Given the description of an element on the screen output the (x, y) to click on. 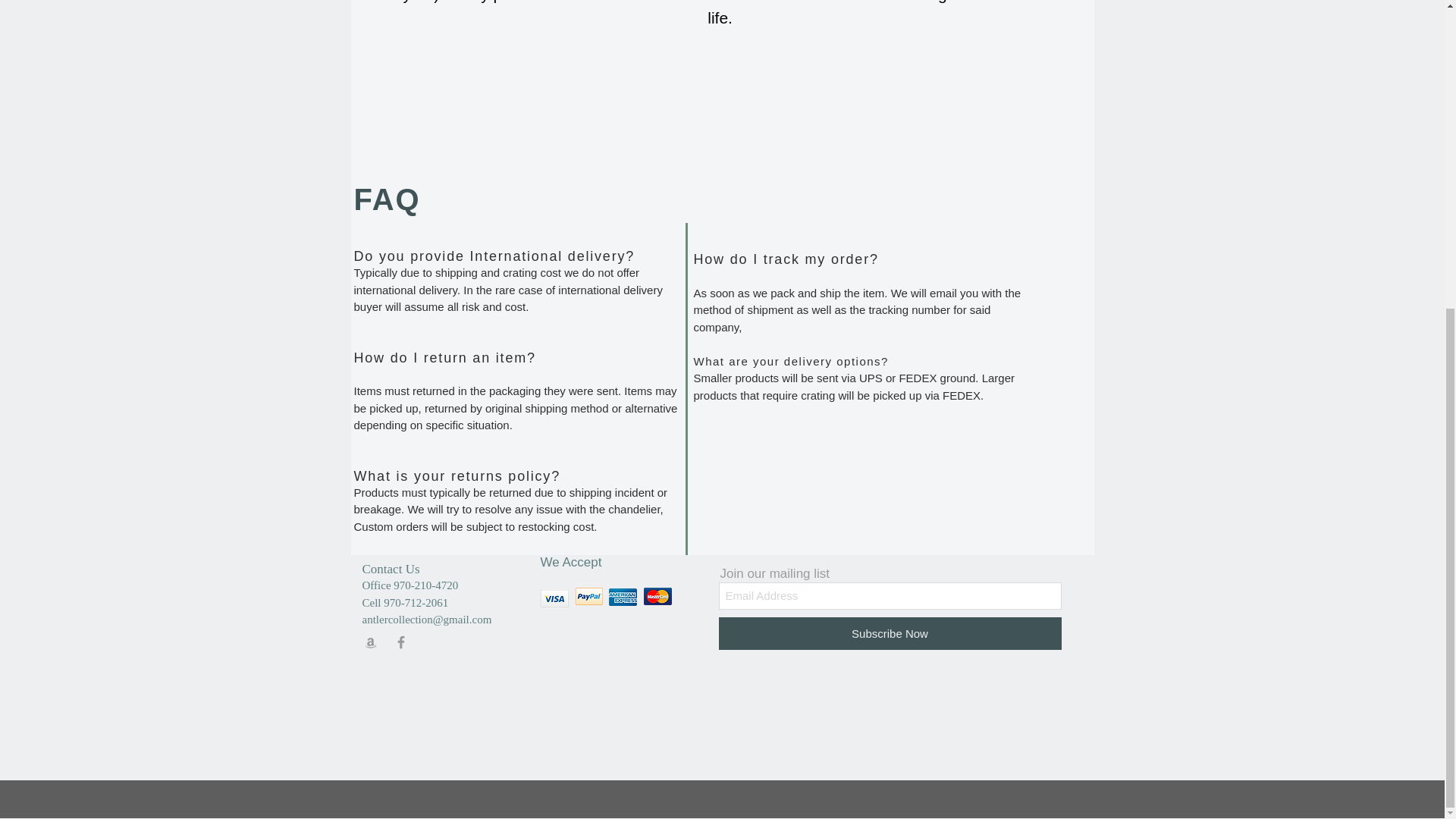
Subscribe Now (890, 633)
